Given the description of an element on the screen output the (x, y) to click on. 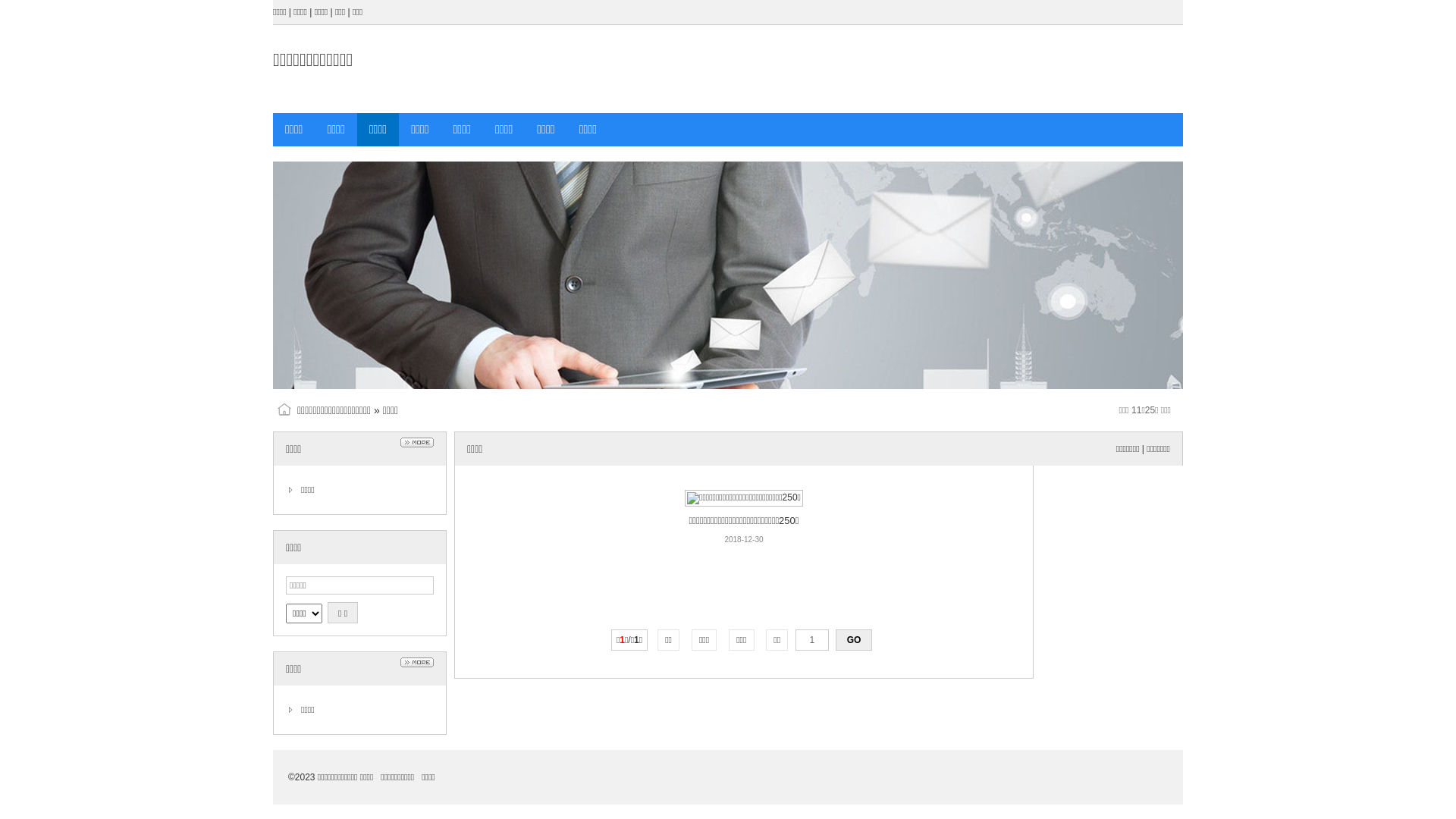
GO Element type: text (853, 639)
